Given the description of an element on the screen output the (x, y) to click on. 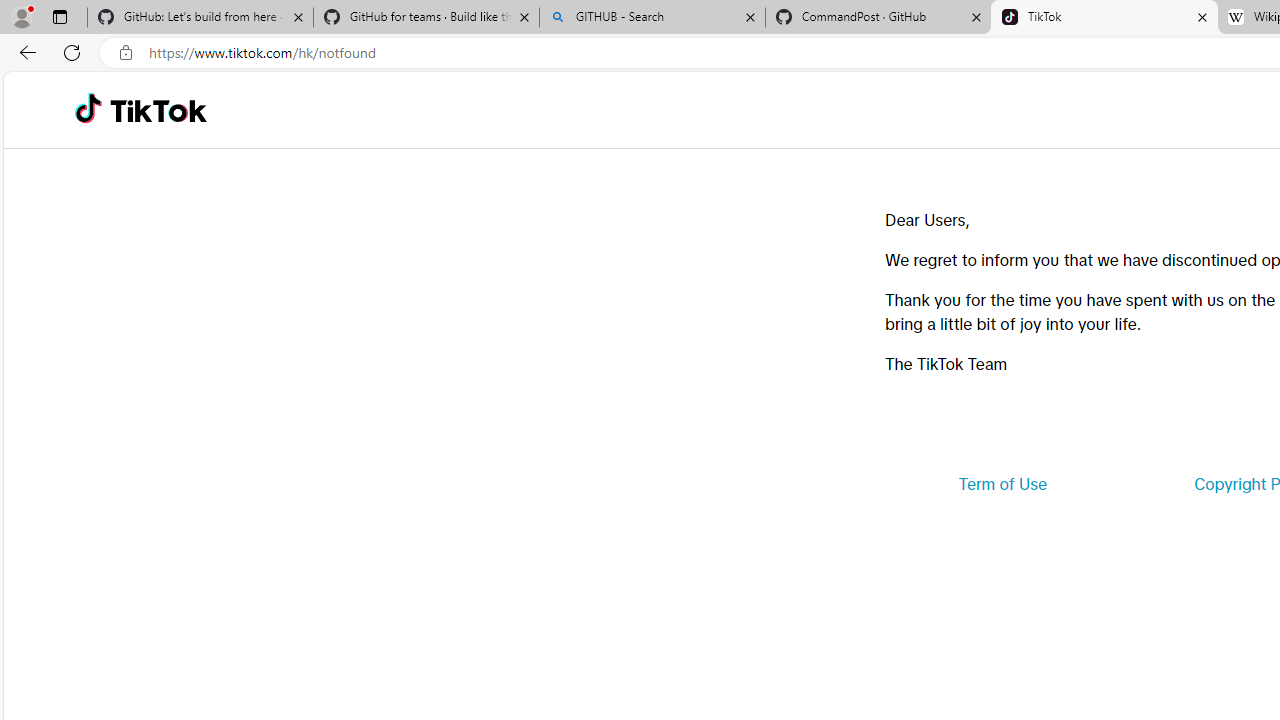
GITHUB - Search (652, 17)
Term of Use (1002, 484)
